Given the description of an element on the screen output the (x, y) to click on. 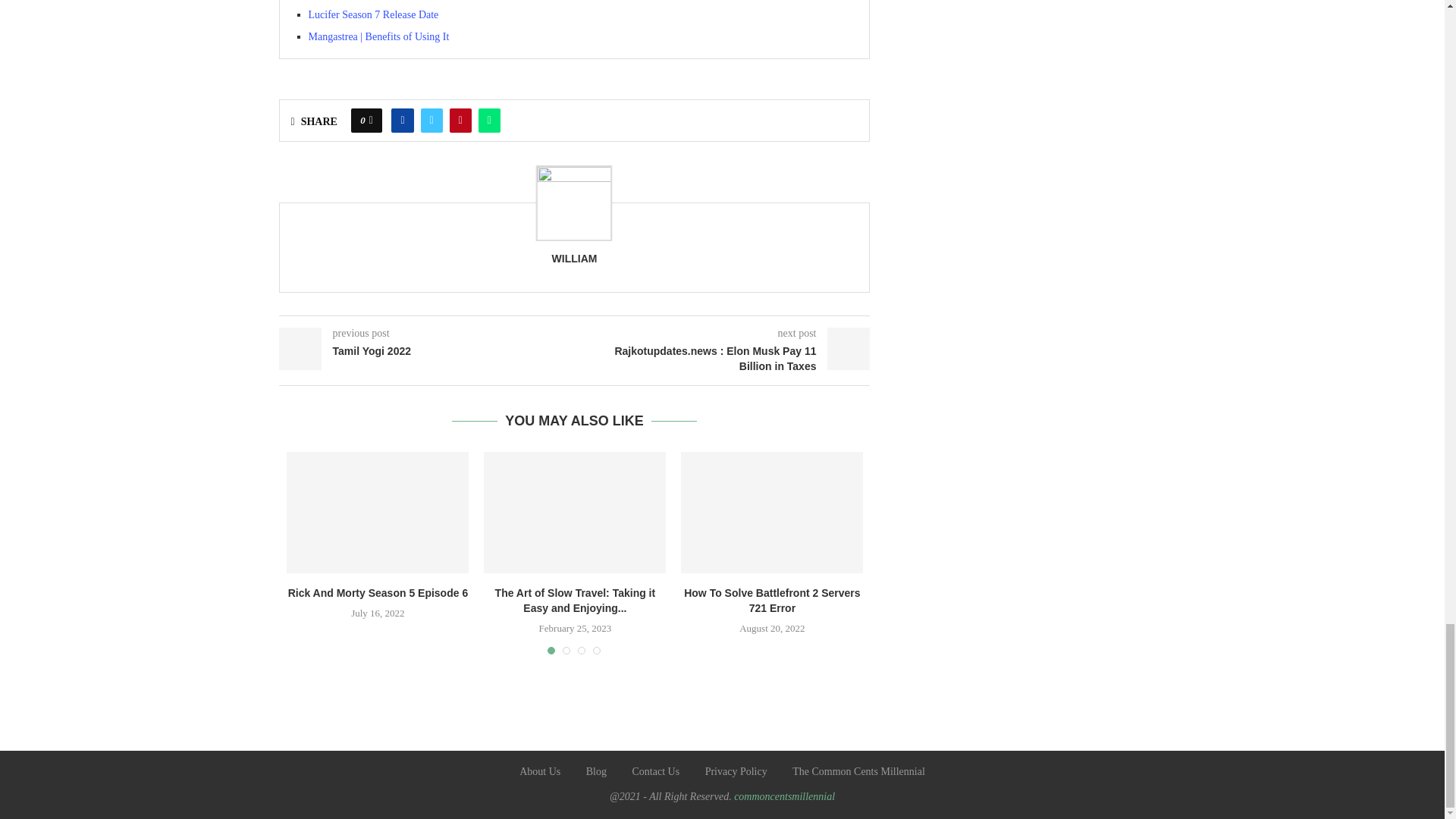
How To Solve Battlefront 2 Servers 721 Error (772, 512)
Rick And Morty Season 5 Episode 6 (377, 512)
Author william (573, 258)
Lucifer Season 7 Release Date (372, 14)
